Given the description of an element on the screen output the (x, y) to click on. 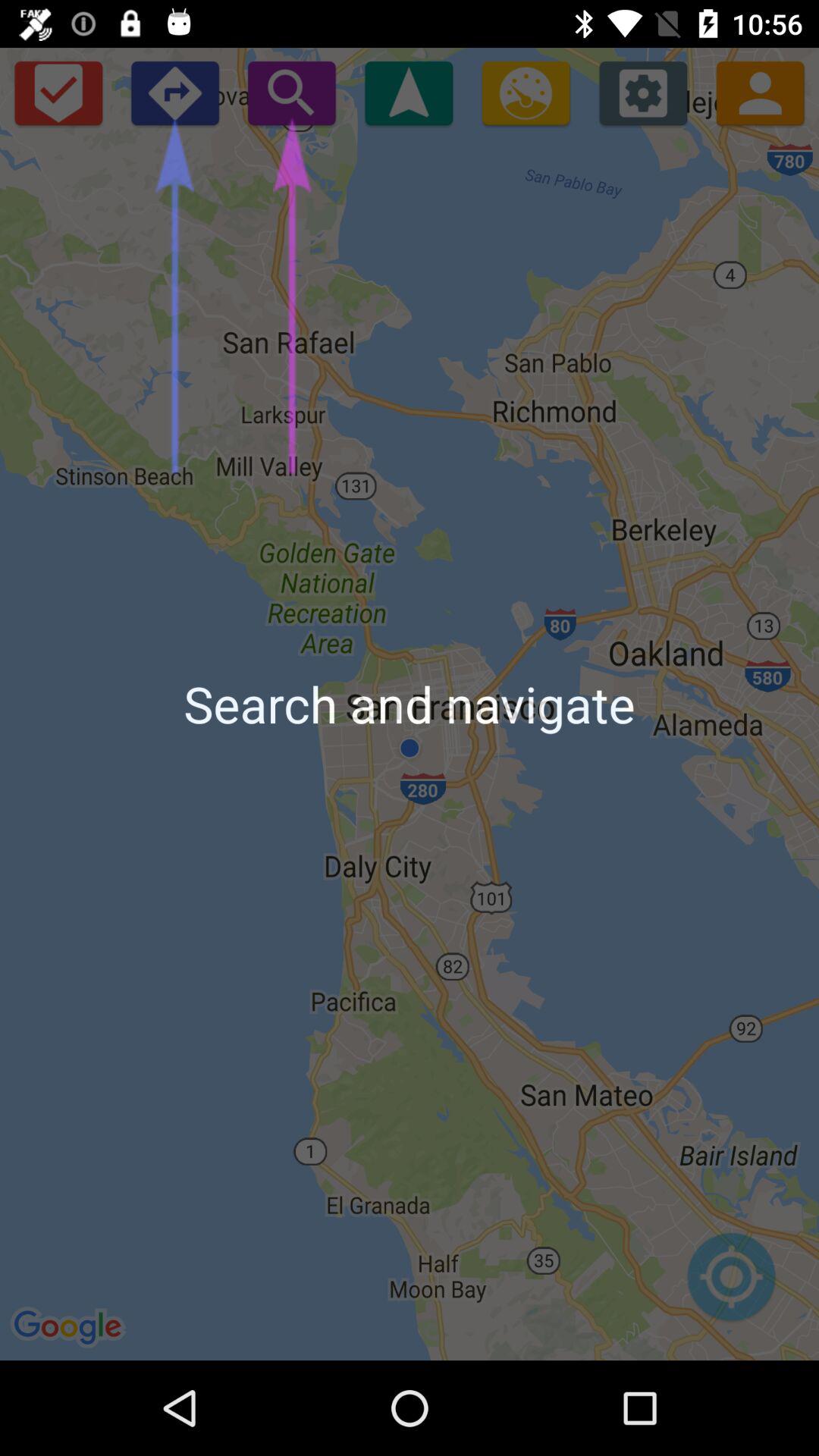
search (291, 92)
